Given the description of an element on the screen output the (x, y) to click on. 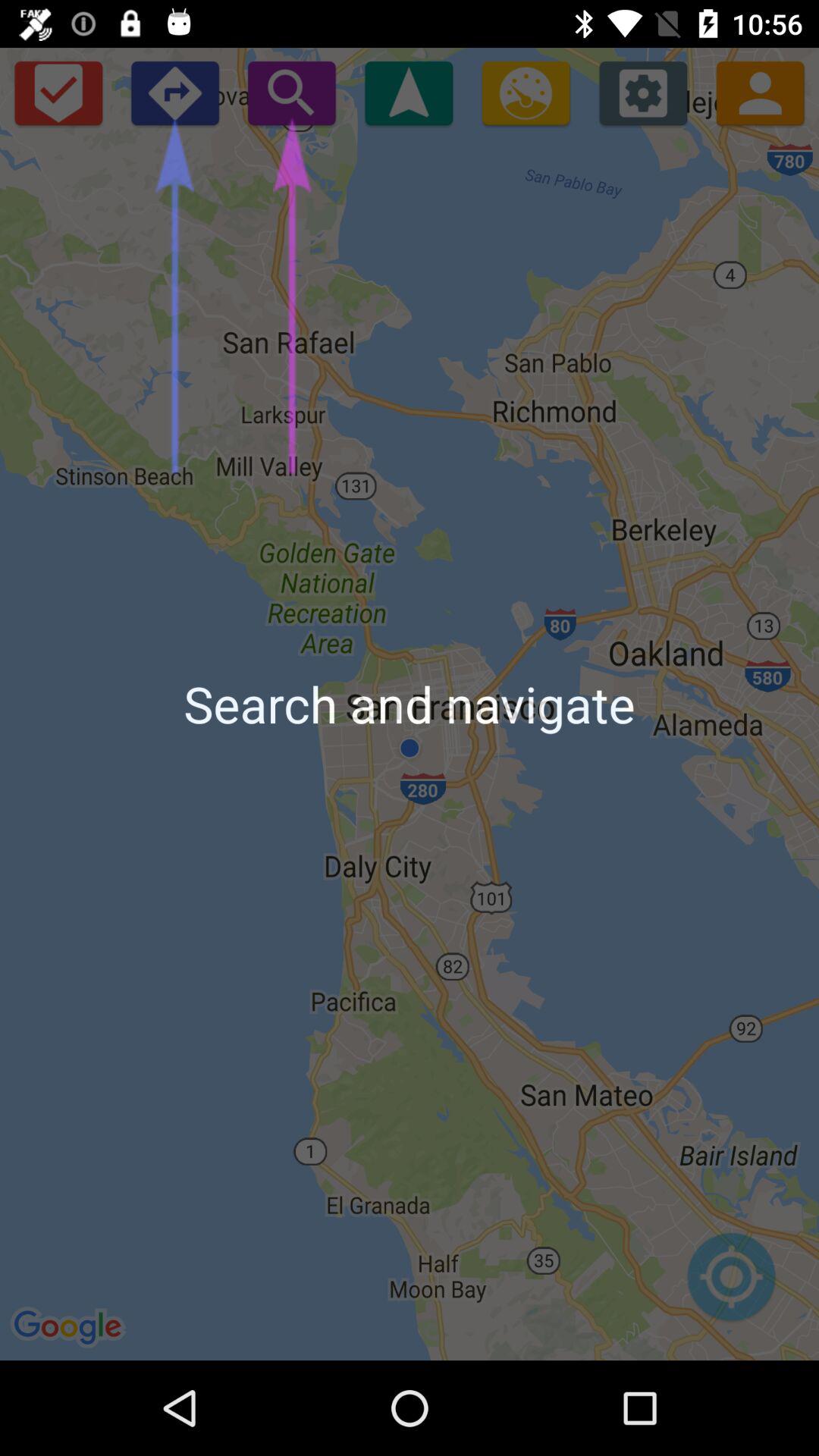
search (291, 92)
